Given the description of an element on the screen output the (x, y) to click on. 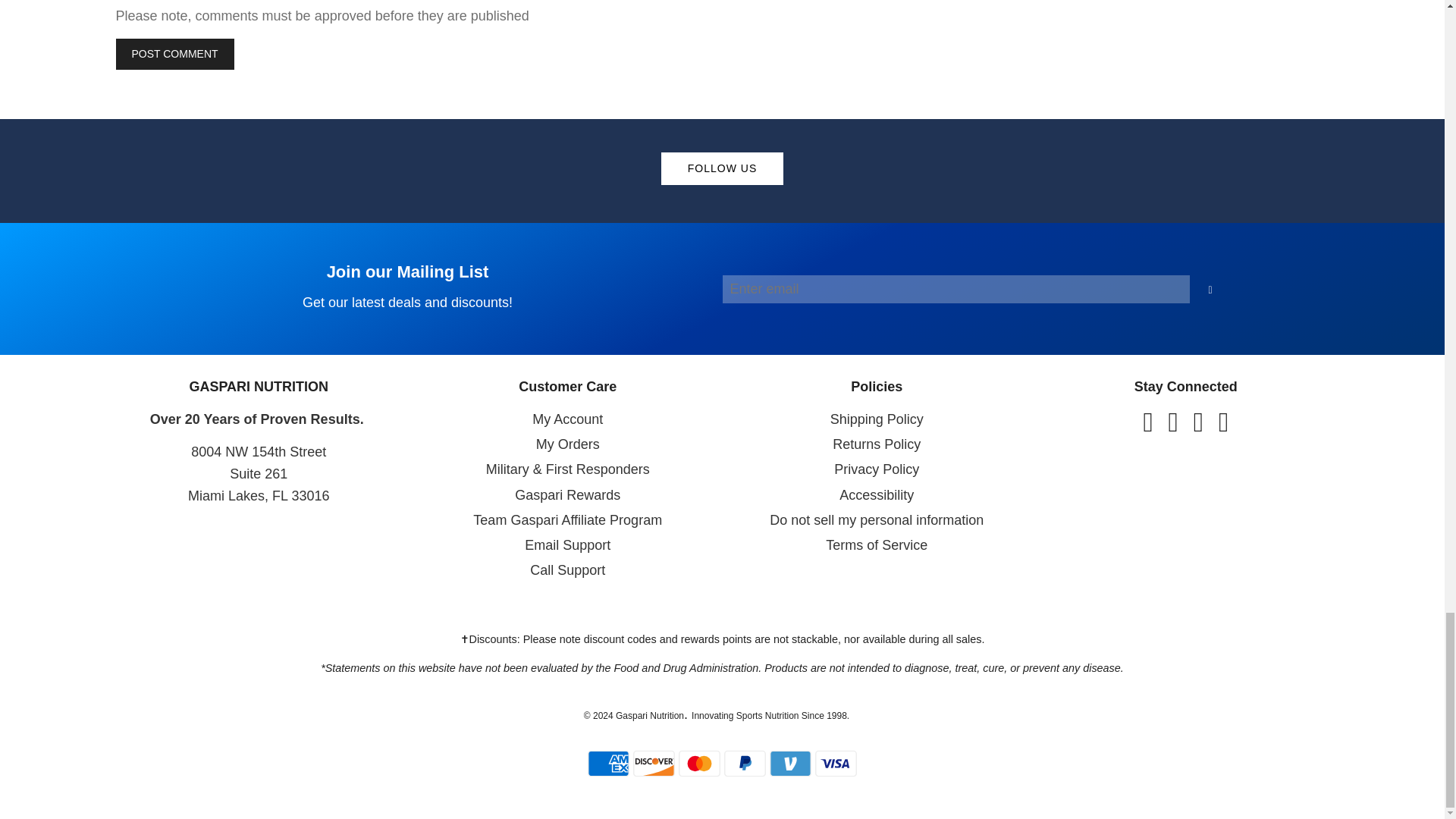
Discover (654, 763)
Visa (836, 763)
American Express (608, 763)
Venmo (722, 289)
Mastercard (790, 763)
Post comment (699, 763)
PayPal (173, 54)
